Given the description of an element on the screen output the (x, y) to click on. 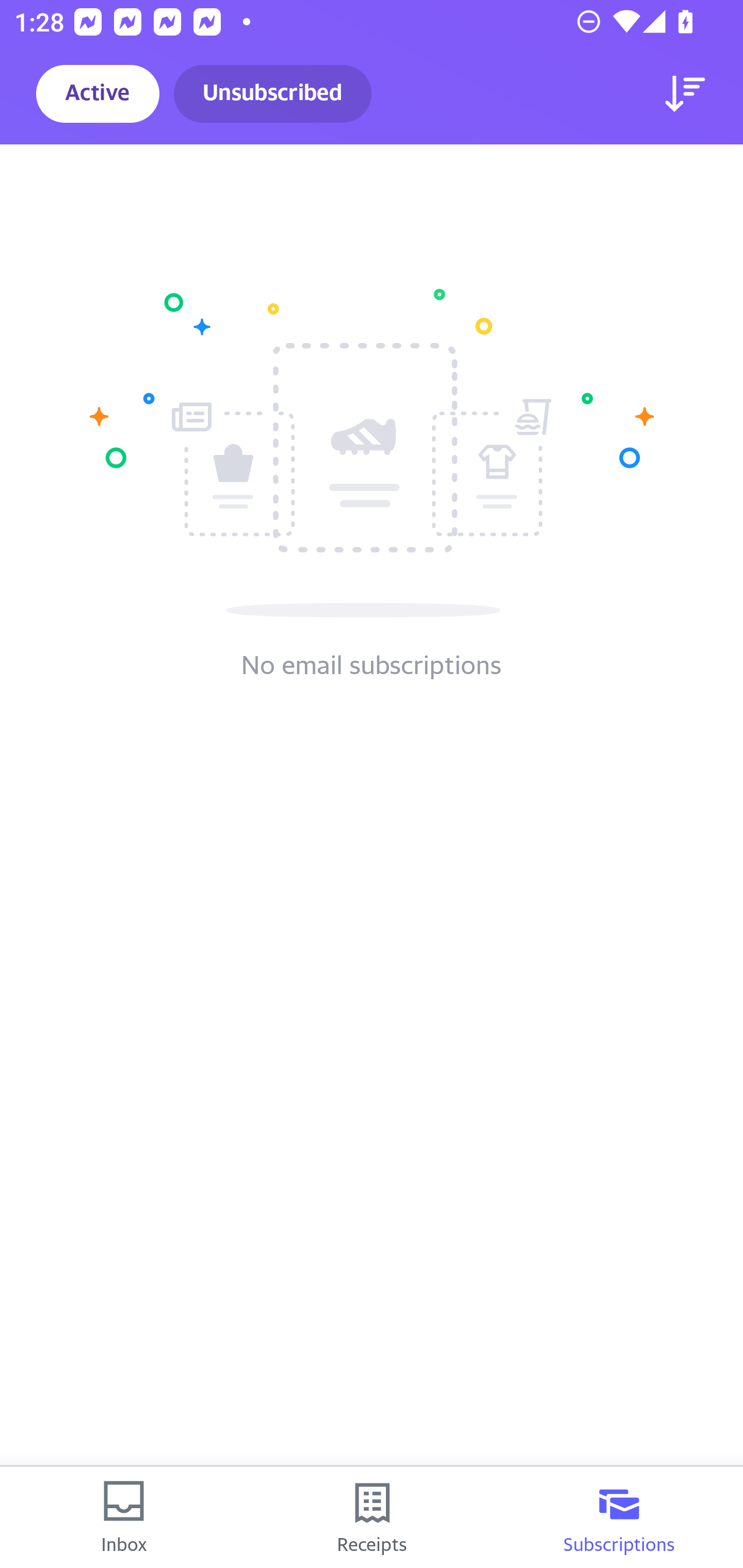
Unsubscribed (272, 93)
Sort (684, 93)
Inbox (123, 1517)
Receipts (371, 1517)
Subscriptions (619, 1517)
